Given the description of an element on the screen output the (x, y) to click on. 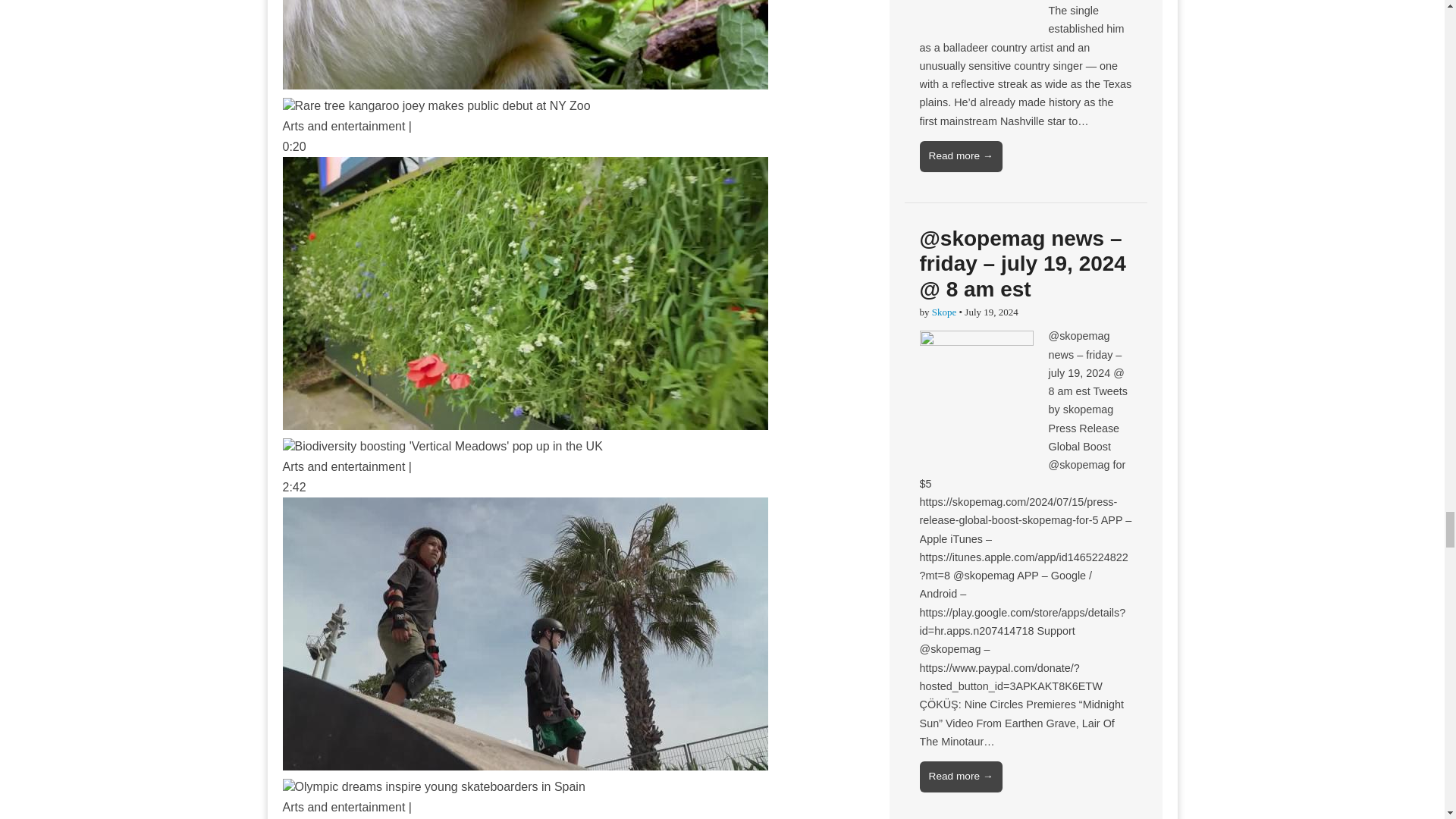
Posts by Skope (943, 311)
